Given the description of an element on the screen output the (x, y) to click on. 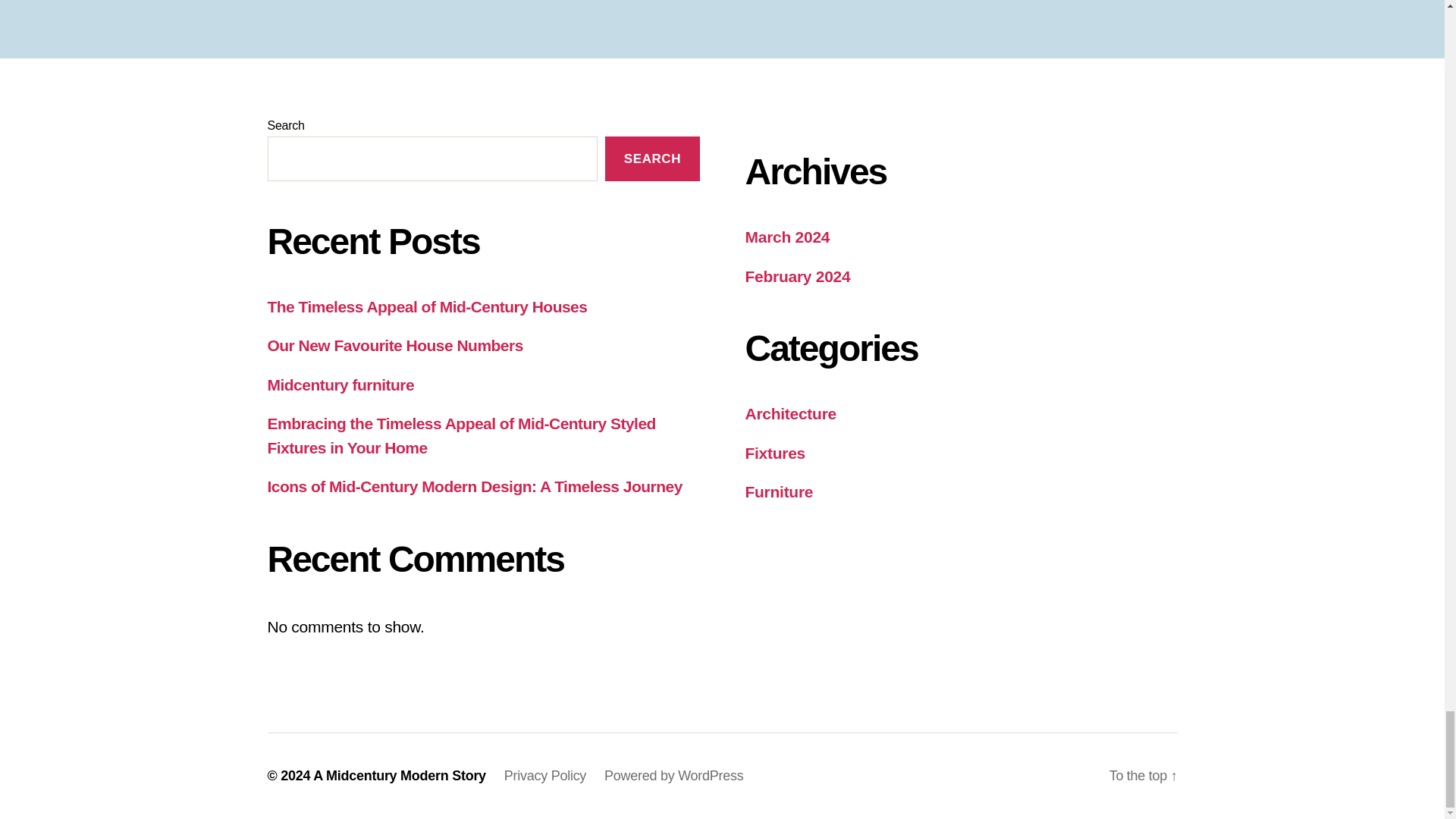
Our New Favourite House Numbers (394, 344)
Architecture (789, 413)
Privacy Policy (544, 775)
Powered by WordPress (673, 775)
The Timeless Appeal of Mid-Century Houses (426, 306)
SEARCH (651, 158)
February 2024 (797, 276)
Fixtures (774, 452)
A Midcentury Modern Story (399, 775)
Midcentury furniture (339, 384)
Icons of Mid-Century Modern Design: A Timeless Journey (473, 486)
Furniture (778, 491)
March 2024 (786, 236)
